Given the description of an element on the screen output the (x, y) to click on. 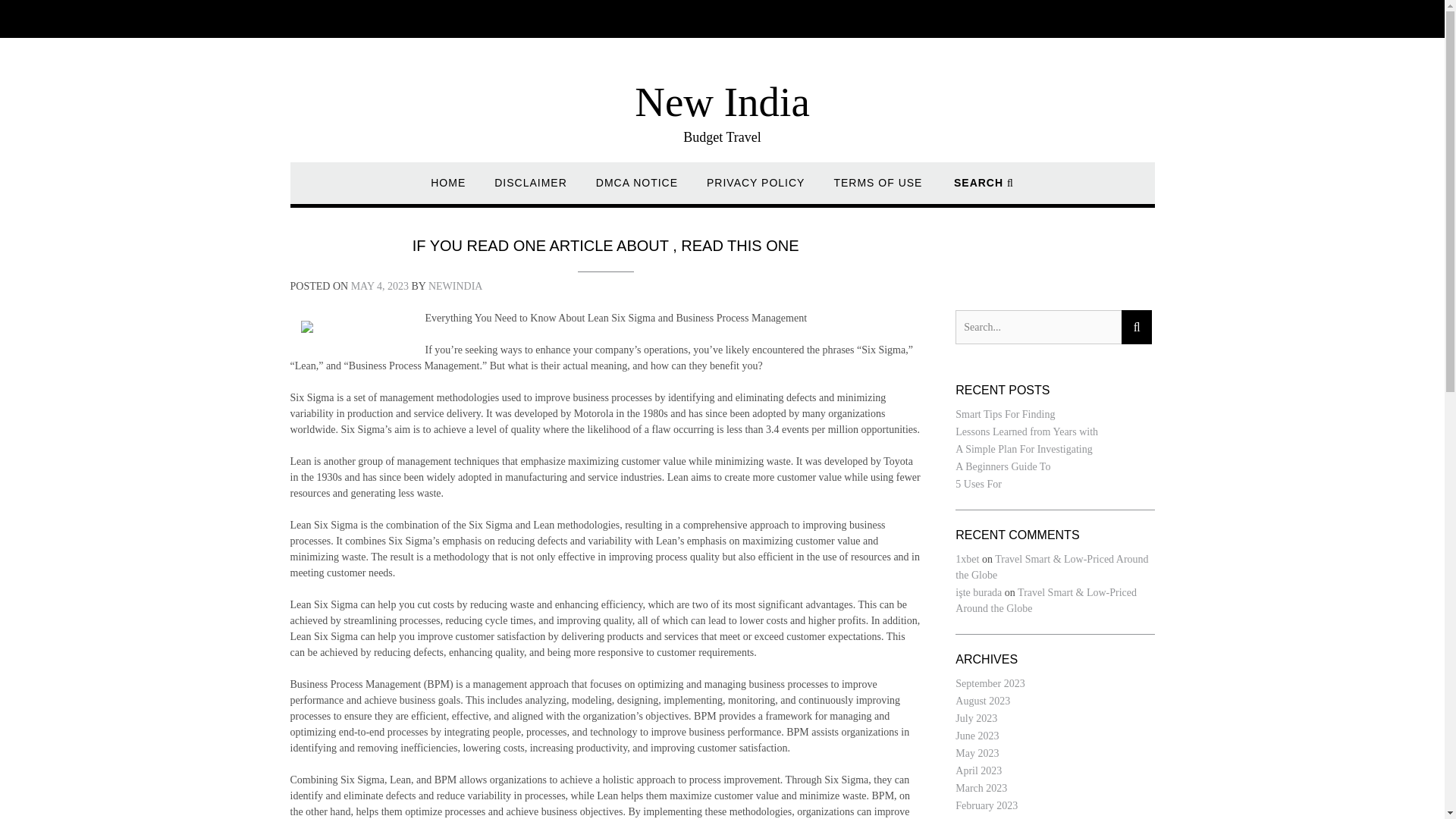
SEARCH (983, 189)
HOME (447, 189)
June 2023 (976, 736)
Search for: (1038, 326)
TERMS OF USE (876, 189)
Smart Tips For Finding (1004, 414)
MAY 4, 2023 (379, 285)
A Simple Plan For Investigating (1023, 449)
1xbet (966, 559)
New India (721, 102)
PRIVACY POLICY (755, 189)
NEWINDIA (455, 285)
A Beginners Guide To (1002, 466)
New India (721, 102)
